Given the description of an element on the screen output the (x, y) to click on. 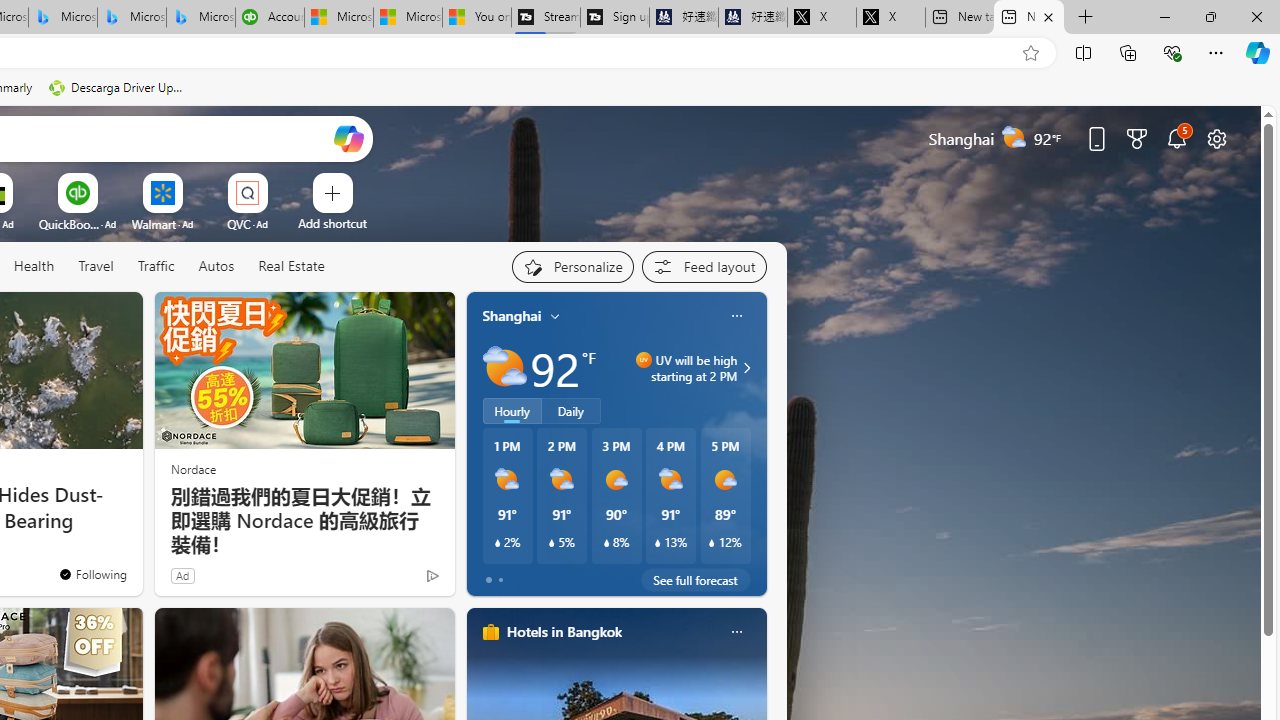
Autos (215, 265)
Microsoft Bing Travel - Stays in Bangkok, Bangkok, Thailand (63, 17)
Feed settings (703, 266)
Page settings (1216, 138)
See full forecast (695, 579)
Real Estate (291, 265)
Streaming Coverage | T3 (545, 17)
Personalize your feed" (571, 266)
Shanghai (511, 315)
Real Estate (290, 267)
